Given the description of an element on the screen output the (x, y) to click on. 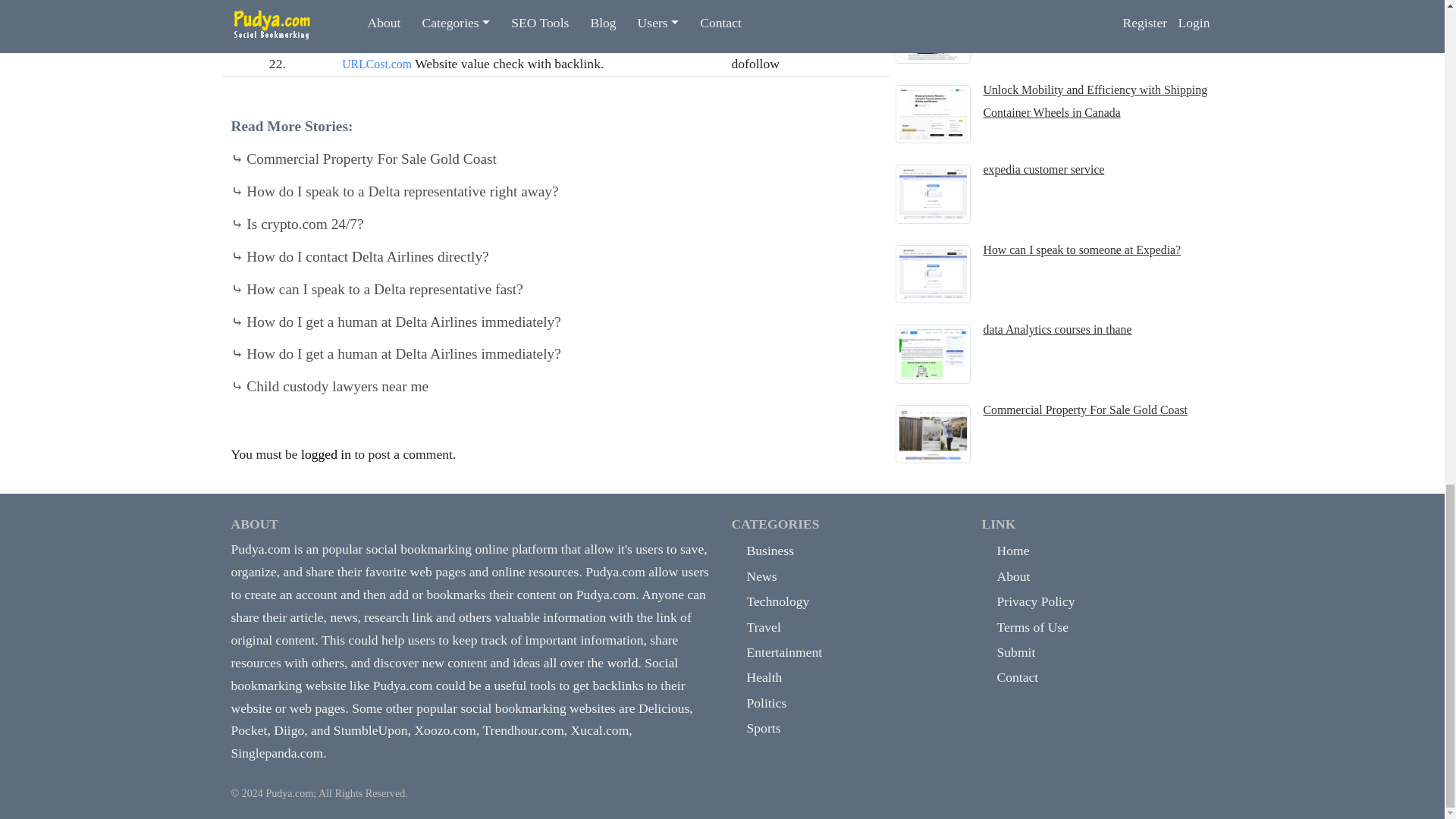
How do I speak to a Delta representative right away? (393, 191)
Commercial Property For Sale Gold Coast (363, 158)
